Given the description of an element on the screen output the (x, y) to click on. 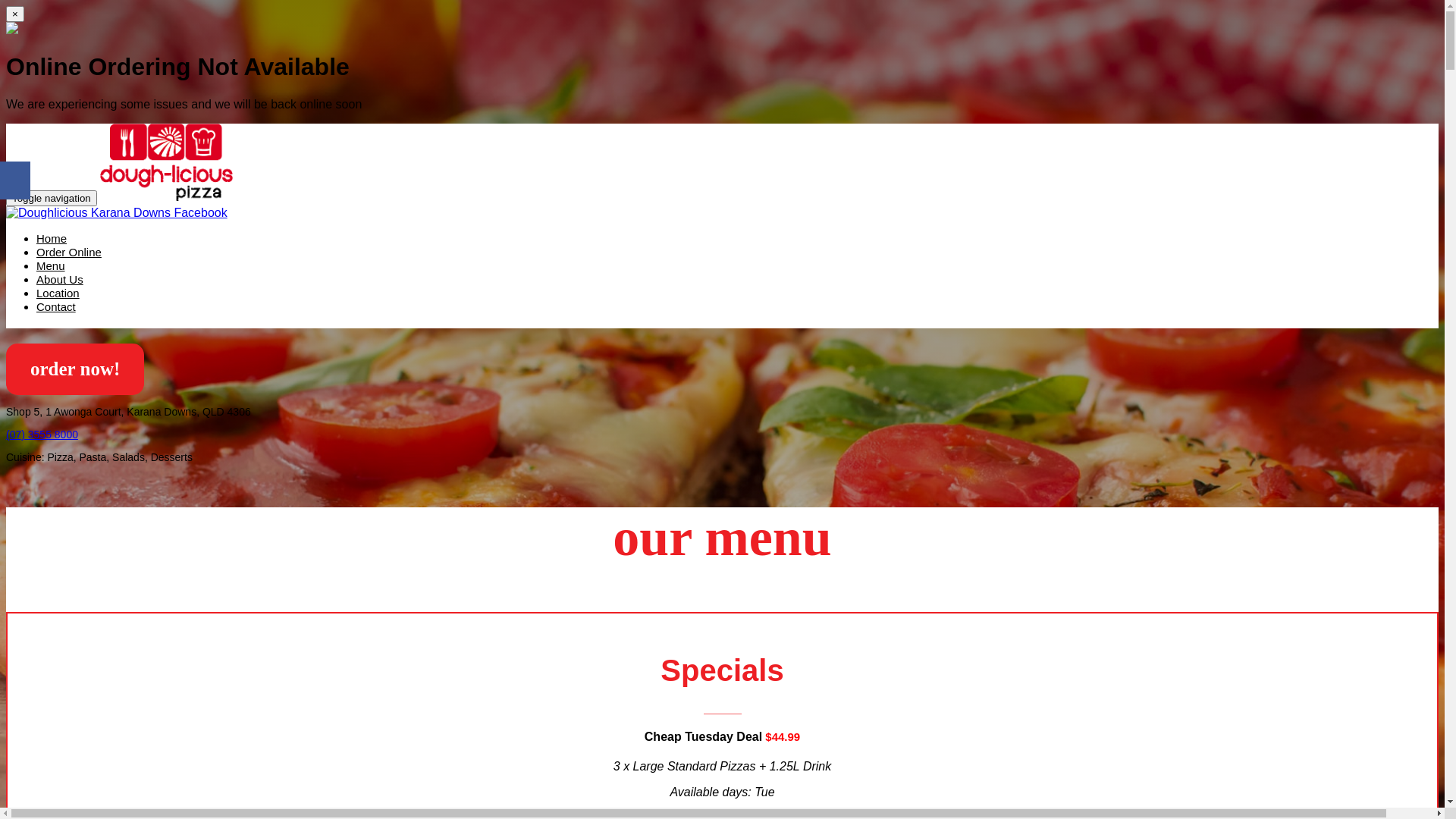
About Us Element type: text (59, 280)
Share on Facebook Element type: hover (15, 180)
Order Online Element type: text (68, 252)
Contact Element type: text (55, 307)
order now! Element type: text (75, 370)
Menu Element type: text (50, 266)
Location Element type: text (57, 293)
Toggle navigation Element type: text (51, 198)
Home Element type: text (51, 239)
(07) 3555 8000 Element type: text (42, 434)
order now! Element type: text (75, 369)
